Given the description of an element on the screen output the (x, y) to click on. 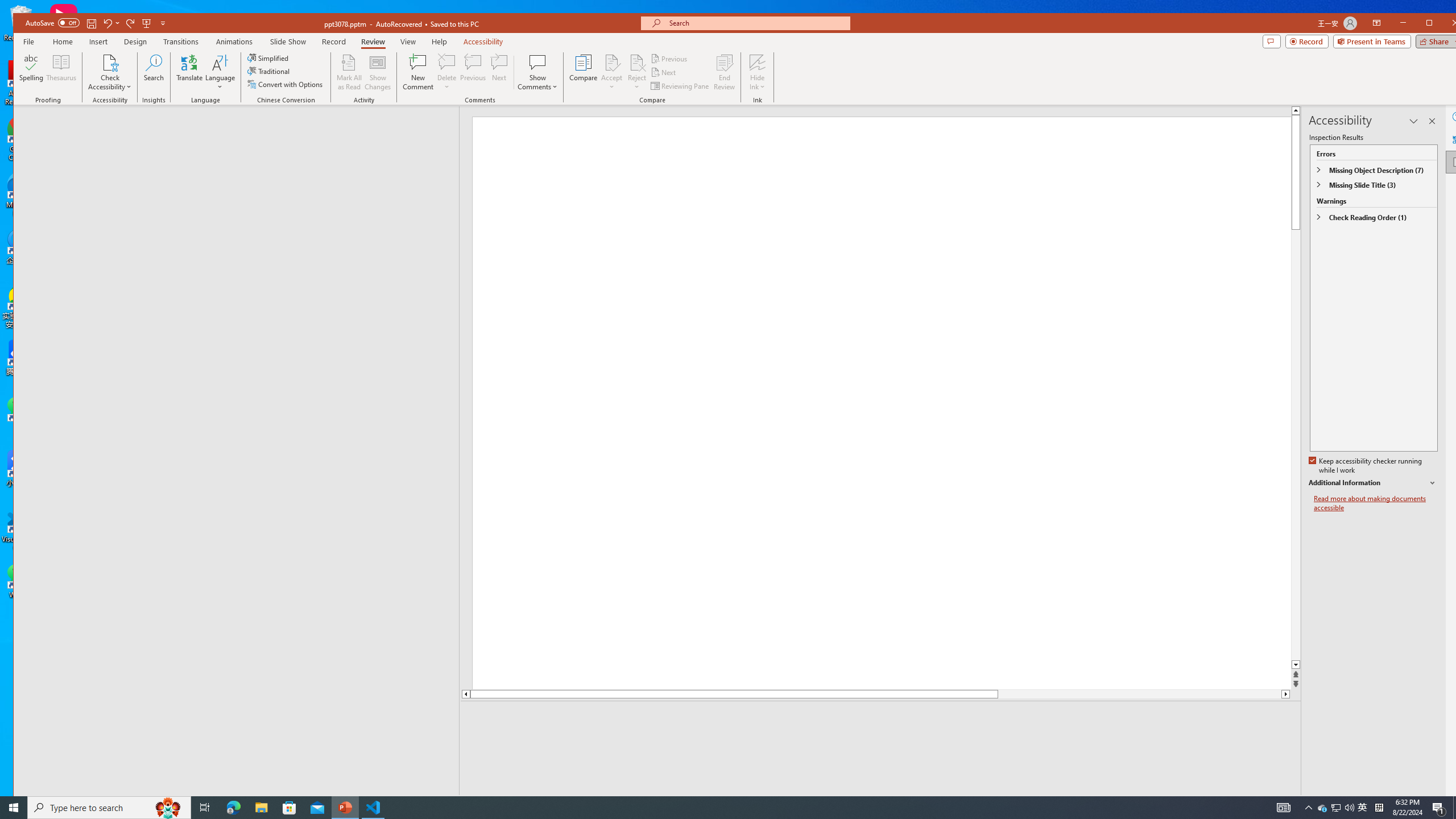
Simplified (269, 57)
Traditional (270, 70)
Reject (636, 72)
Outline (240, 128)
